Given the description of an element on the screen output the (x, y) to click on. 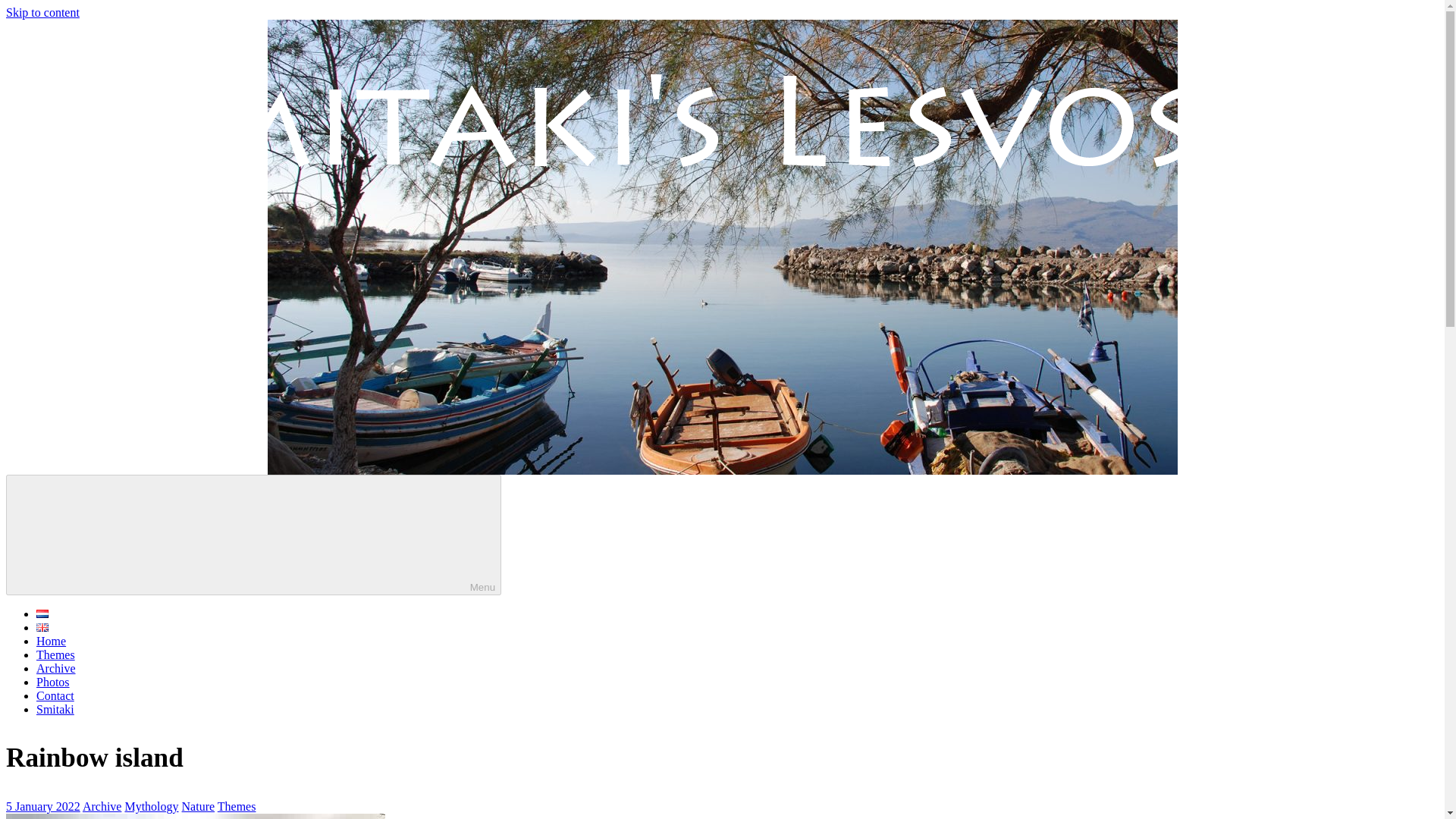
Archive (55, 667)
Nature (198, 806)
Themes (236, 806)
Menu (252, 535)
09:06 (42, 806)
Smitaki (55, 708)
Archive (102, 806)
Photos (52, 681)
Themes (55, 654)
Skip to content (42, 11)
5 January 2022 (42, 806)
Contact (55, 695)
Mythology (150, 806)
Home (50, 640)
